Given the description of an element on the screen output the (x, y) to click on. 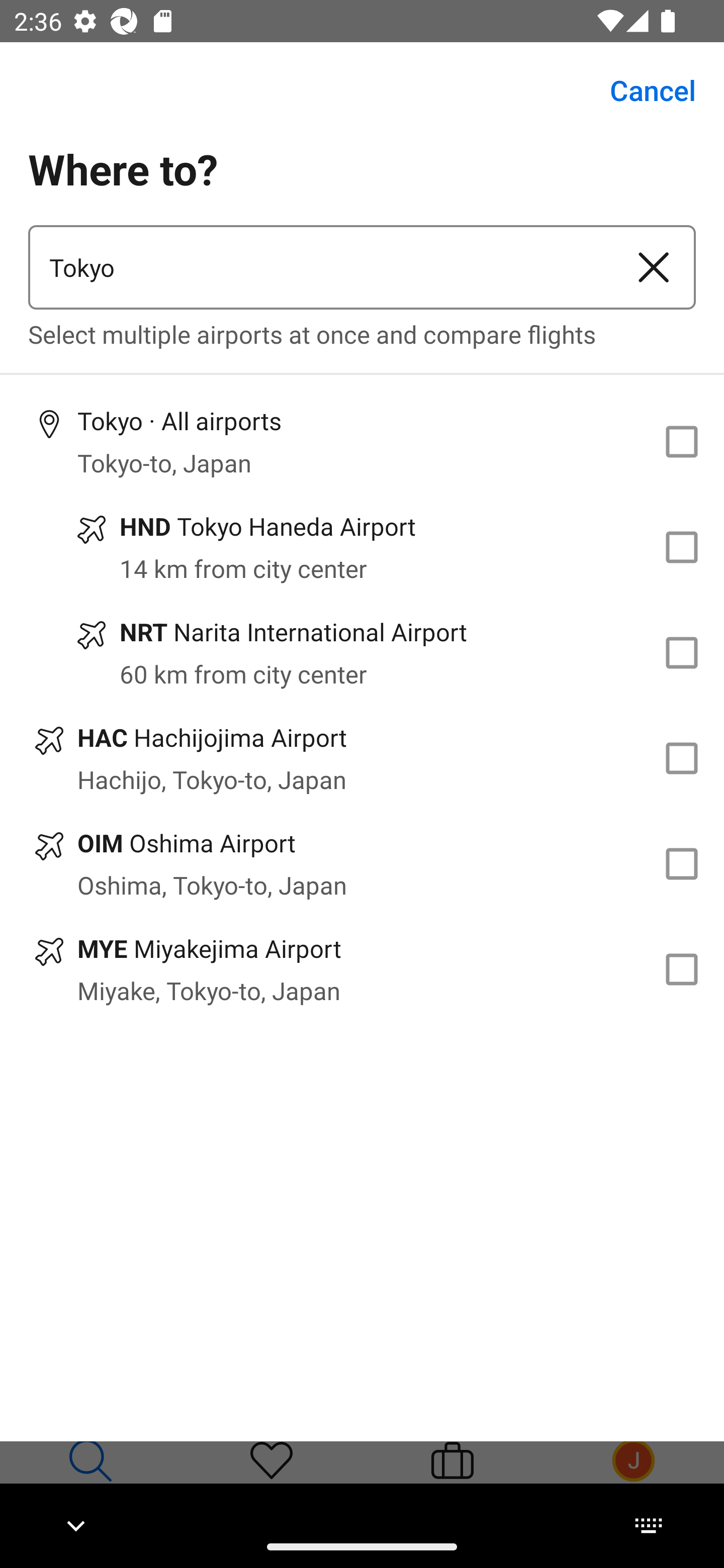
Cancel (641, 90)
Tokyo (319, 266)
Clear airport or city (653, 266)
Tokyo · All airports Tokyo-to, Japan (362, 440)
HND Tokyo Haneda Airport 14 km from city center (362, 547)
HAC Hachijojima Airport Hachijo, Tokyo-to, Japan (362, 757)
OIM Oshima Airport Oshima, Tokyo-to, Japan (362, 863)
MYE Miyakejima Airport Miyake, Tokyo-to, Japan (362, 969)
